Given the description of an element on the screen output the (x, y) to click on. 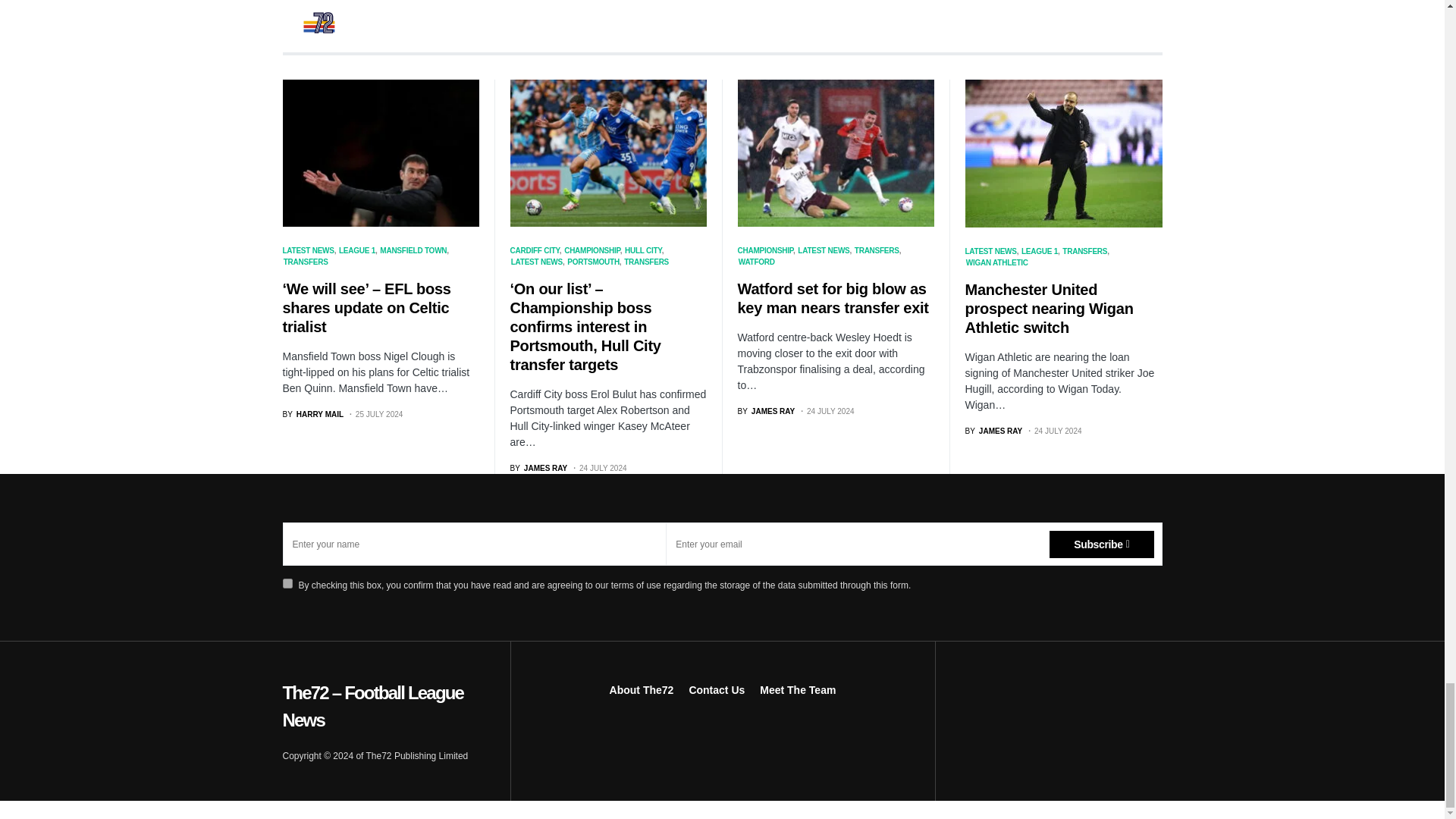
on (287, 583)
View all posts by James Ray (765, 410)
View all posts by Harry Mail (312, 414)
View all posts by James Ray (992, 430)
View all posts by James Ray (538, 468)
